Given the description of an element on the screen output the (x, y) to click on. 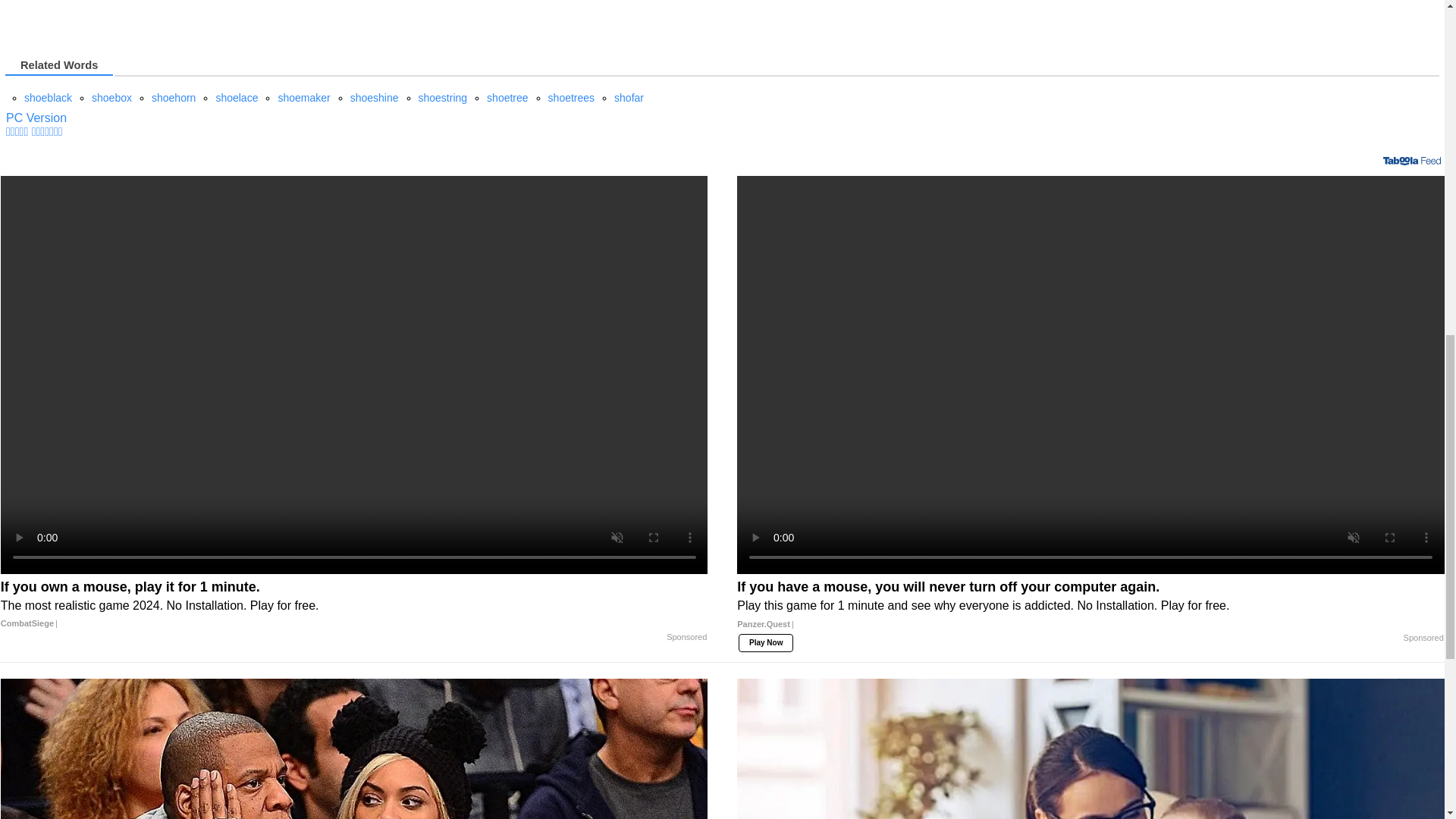
shoebox (111, 97)
shoeblack sentence (47, 97)
If you own a mouse, play it for 1 minute. (354, 605)
shoehorn (173, 97)
Advertisement (132, 13)
shoehorn sentence (173, 97)
shoetree sentence (506, 97)
shoeblack (47, 97)
shoemaker (304, 97)
shoelace (236, 97)
shoetrees sentence (571, 97)
shoemaking in a sentence (35, 117)
shoestring (443, 97)
shoeshine sentence (374, 97)
shoelace sentence (236, 97)
